Given the description of an element on the screen output the (x, y) to click on. 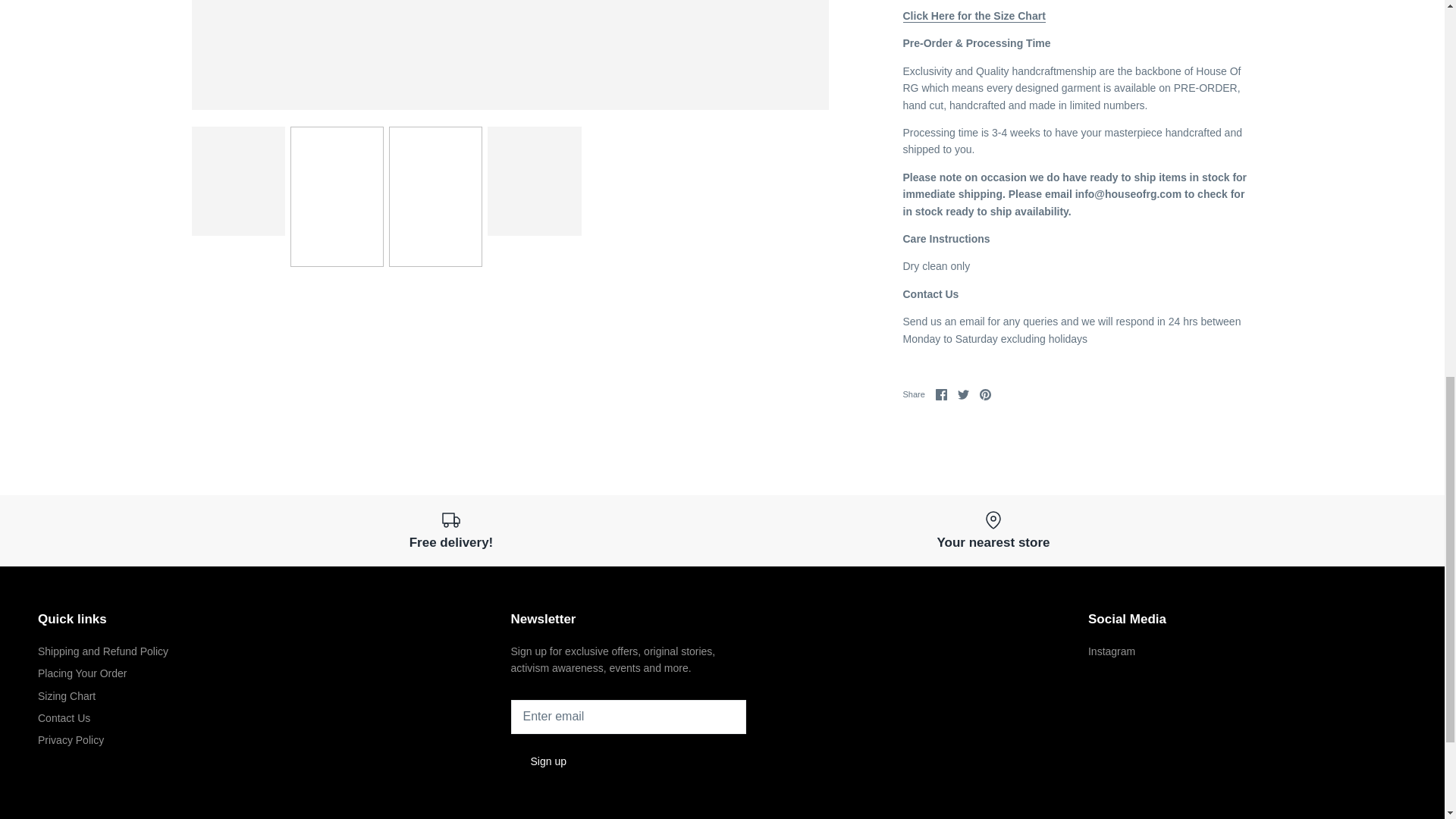
Size Chart (973, 15)
Pinterest (985, 394)
Twitter (963, 394)
Facebook (941, 394)
